Given the description of an element on the screen output the (x, y) to click on. 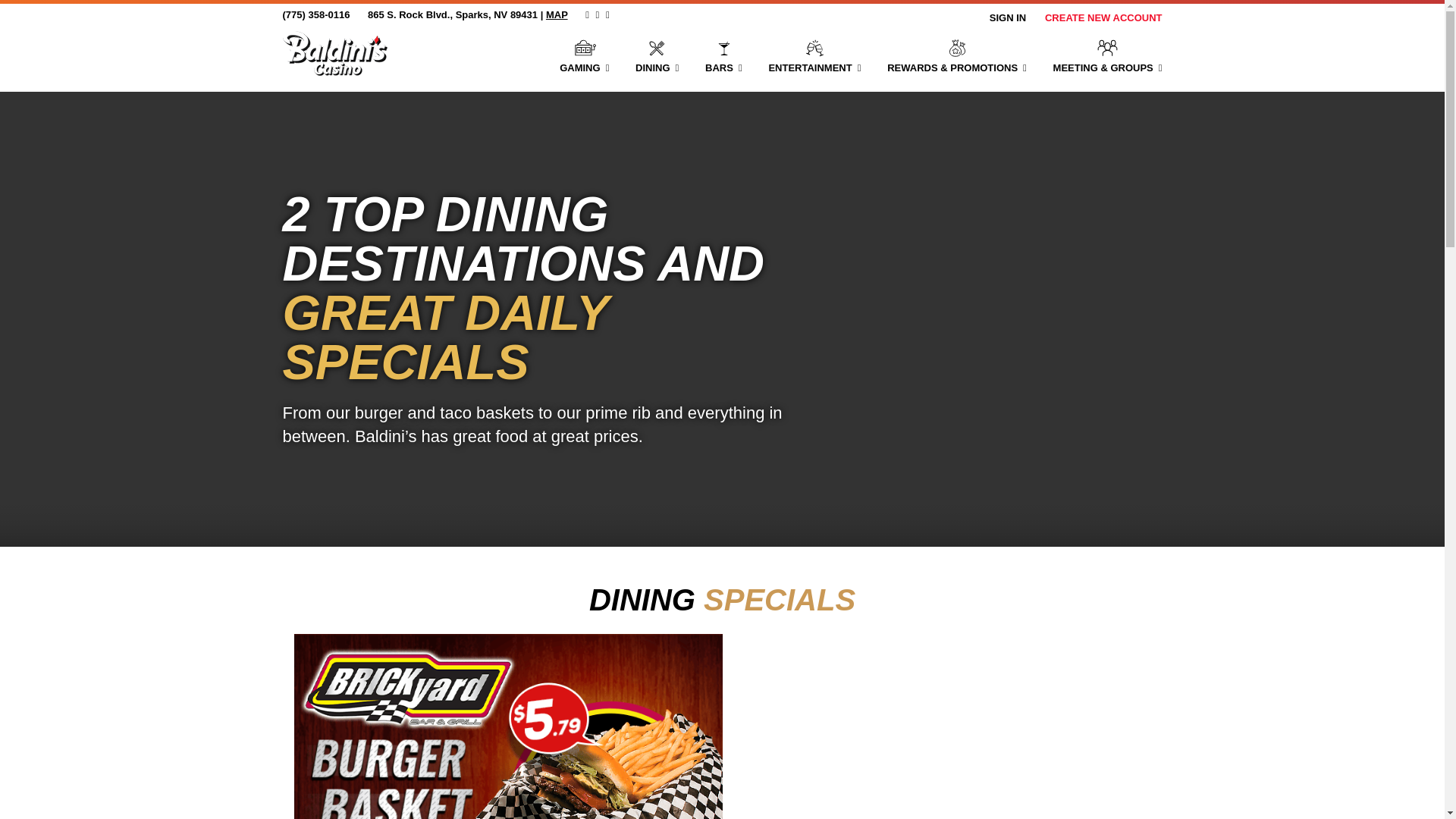
SIGN IN (1008, 18)
MAP (556, 14)
ENTERTAINMENT (814, 55)
BurgerBasket-SmallHorizontal (508, 726)
DINING (656, 55)
BARS (723, 55)
CREATE NEW ACCOUNT (1103, 18)
GAMING (583, 55)
